Given the description of an element on the screen output the (x, y) to click on. 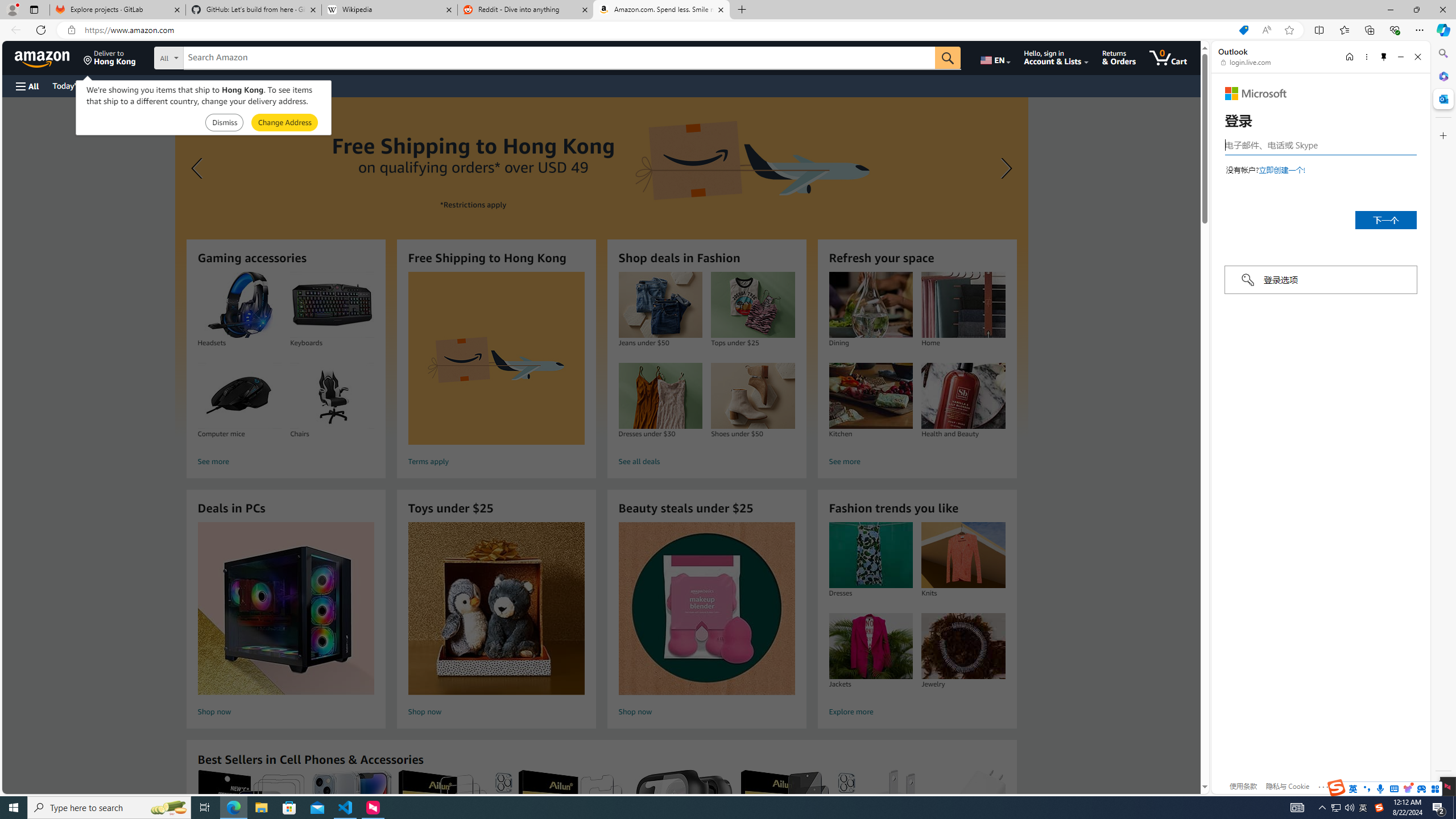
Headsets (239, 304)
Previous slide (198, 168)
Beauty steals under $25 (705, 608)
Jeans under $50 (659, 304)
Free Shipping to Hong Kong (496, 357)
Chairs (331, 395)
